Given the description of an element on the screen output the (x, y) to click on. 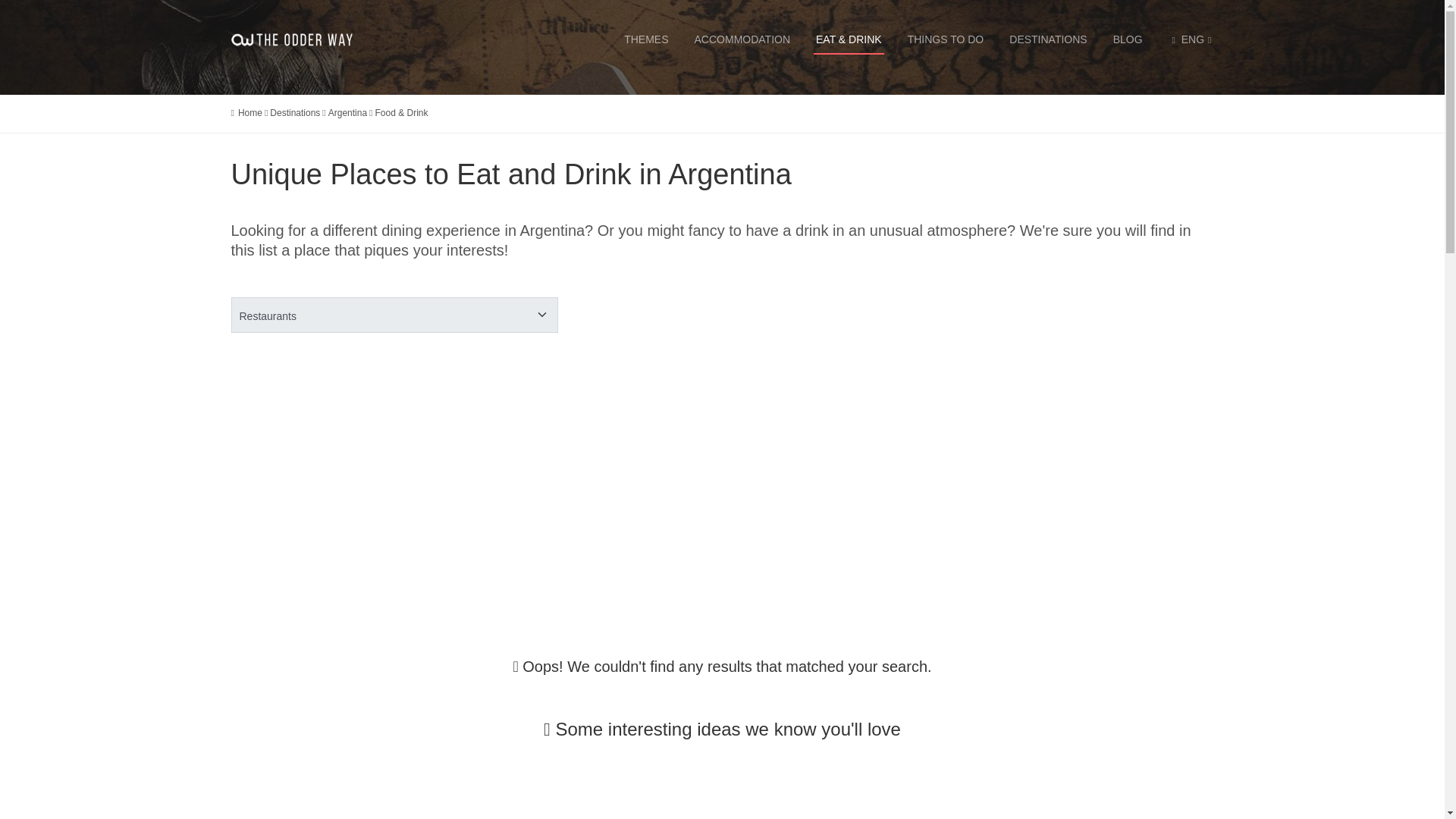
THEMES (645, 39)
BLOG (1127, 39)
THINGS TO DO (946, 39)
ACCOMMODATION (743, 39)
Home (250, 112)
Destinations (294, 112)
DESTINATIONS (1048, 39)
  ENG (1190, 39)
Argentina (347, 112)
